Given the description of an element on the screen output the (x, y) to click on. 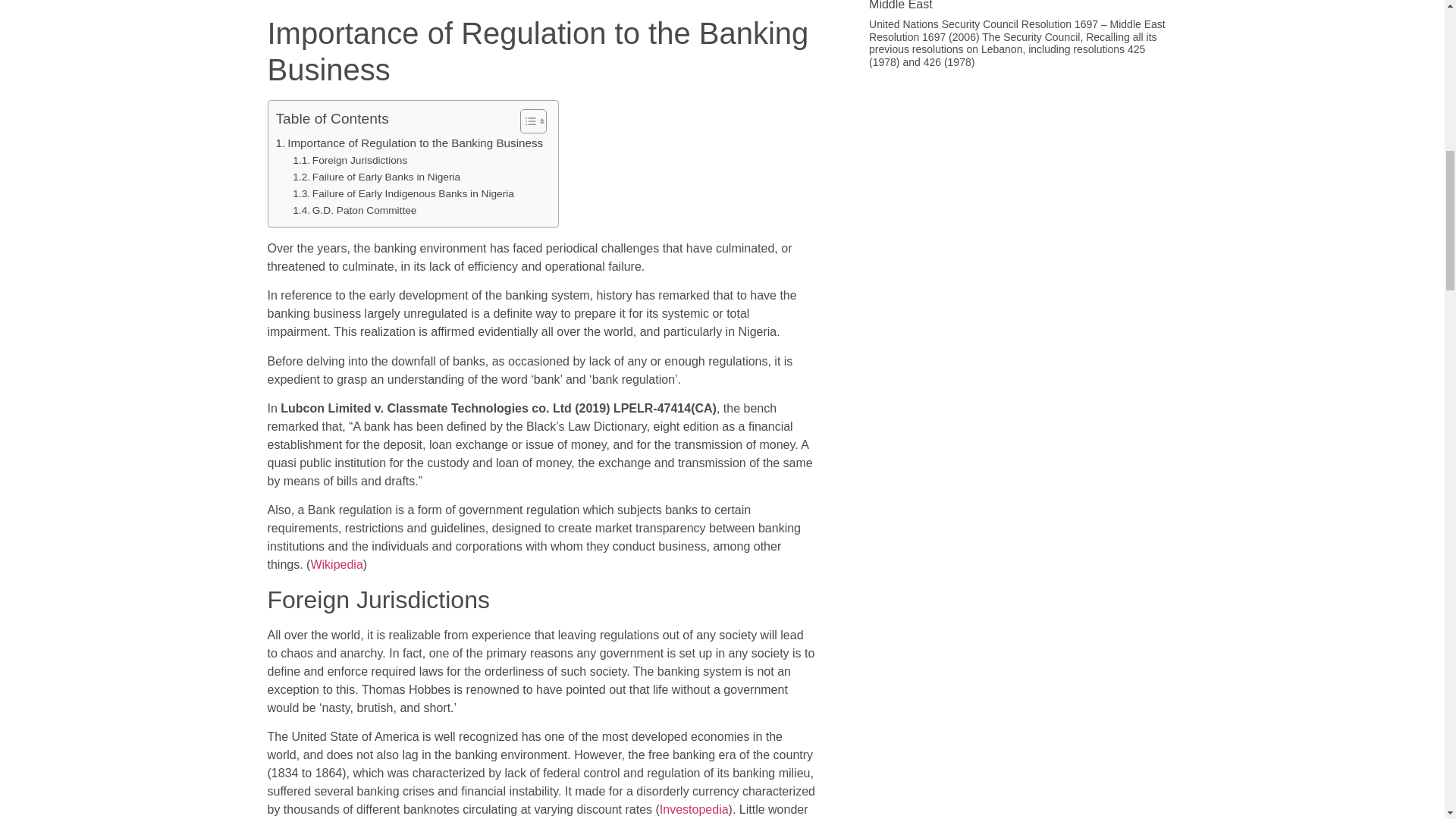
Foreign Jurisdictions (349, 160)
Foreign Jurisdictions (349, 160)
Wikipedia (336, 563)
Failure of Early Banks in Nigeria (376, 176)
Importance of Regulation to the Banking Business (409, 143)
Failure of Early Indigenous Banks in Nigeria (402, 193)
Failure of Early Banks in Nigeria (376, 176)
Failure of Early Indigenous Banks in Nigeria (402, 193)
G.D. Paton Committee (354, 210)
Importance of Regulation to the Banking Business (409, 143)
G.D. Paton Committee (354, 210)
Investopedia (694, 809)
